Given the description of an element on the screen output the (x, y) to click on. 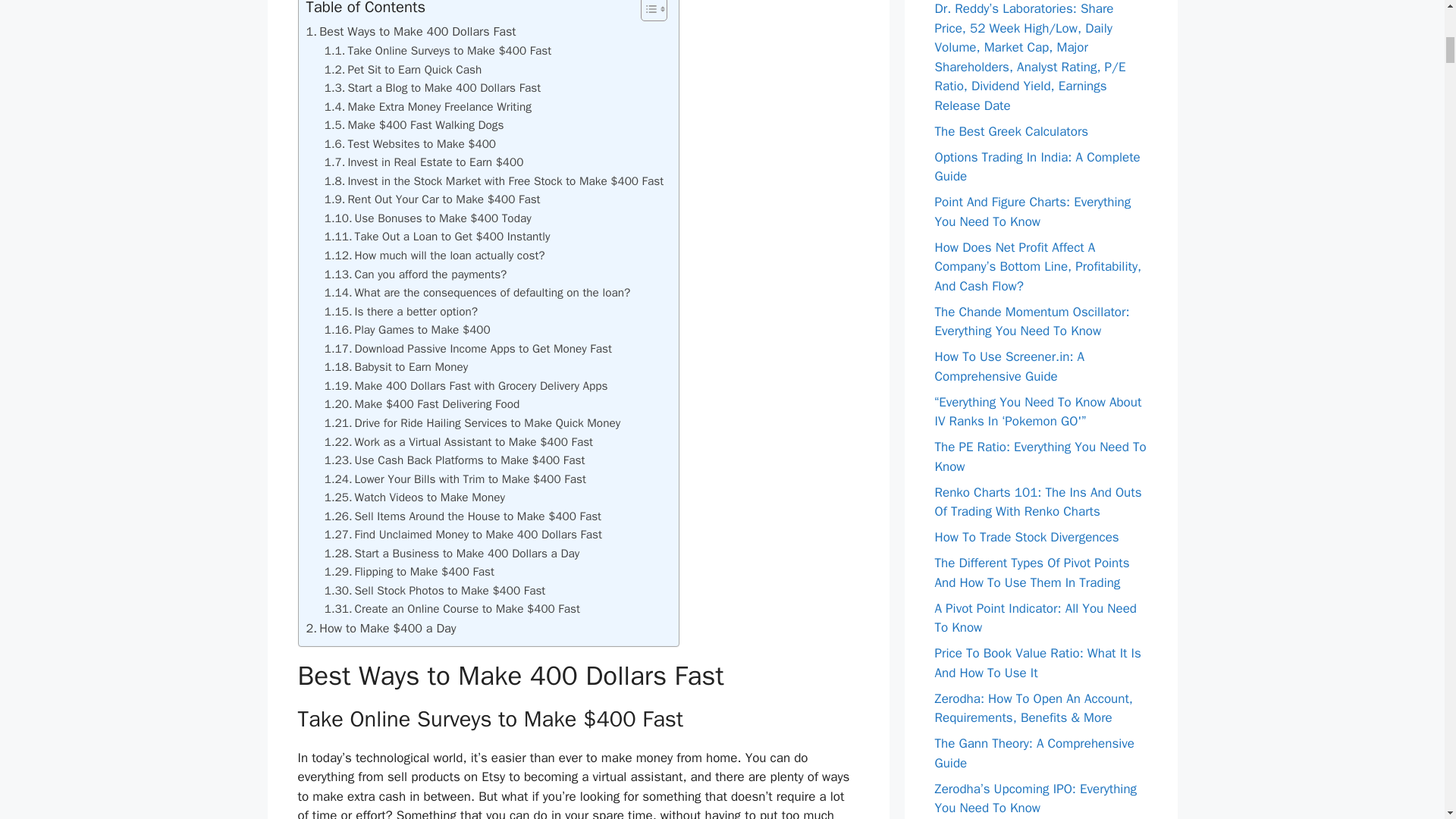
What are the consequences of defaulting on the loan? (477, 292)
Download Passive Income Apps to Get Money Fast (467, 348)
Watch Videos to Make Money (414, 497)
Can you afford the payments? (415, 274)
Make 400 Dollars Fast with Grocery Delivery Apps (466, 385)
Best Ways to Make 400 Dollars Fast (410, 31)
Babysit to Earn Money (396, 366)
Make Extra Money Freelance Writing (427, 107)
How much will the loan actually cost? (434, 255)
Start a Blog to Make 400 Dollars Fast (432, 87)
